Given the description of an element on the screen output the (x, y) to click on. 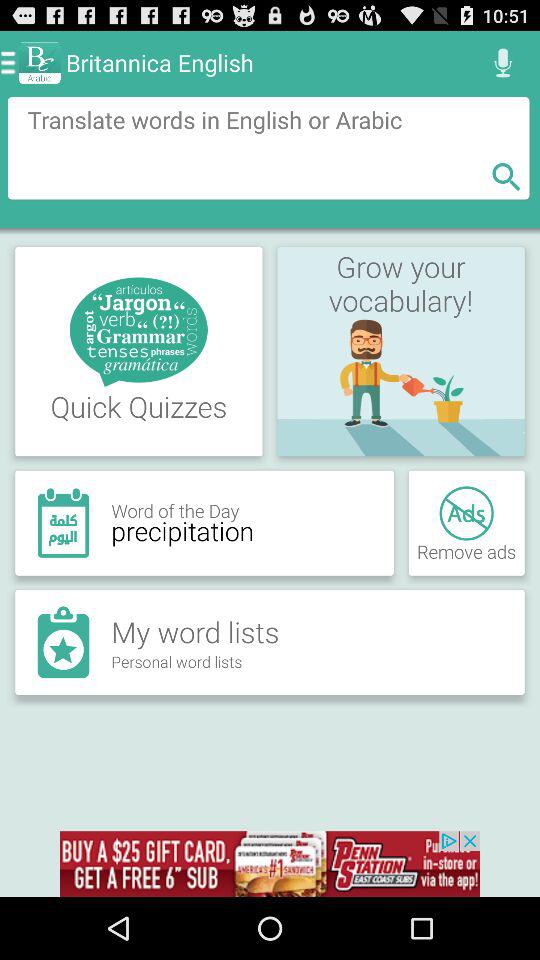
translate text (268, 148)
